Given the description of an element on the screen output the (x, y) to click on. 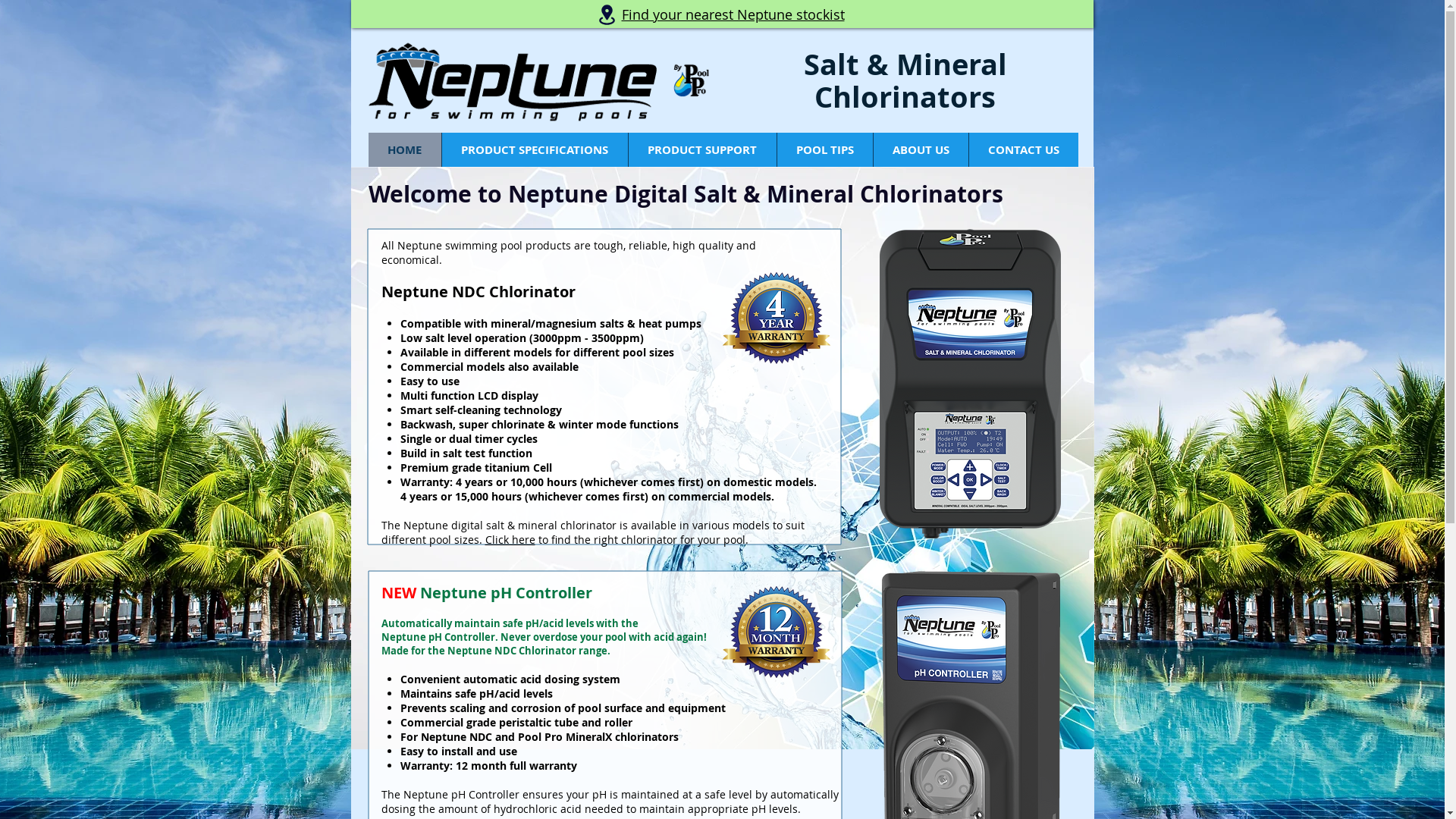
Neptune-by-Pool-Pro-header-logo.png Element type: hover (537, 81)
PRODUCT SPECIFICATIONS Element type: text (534, 149)
ABOUT US Element type: text (919, 149)
3 year warranty for Neptune salt water chlorinators Element type: hover (775, 318)
PRODUCT SUPPORT Element type: text (701, 149)
Find your nearest Neptune stockist Element type: text (732, 15)
POOL TIPS Element type: text (824, 149)
Click here Element type: text (510, 539)
HOME Element type: text (404, 149)
CONTACT US Element type: text (1022, 149)
